Given the description of an element on the screen output the (x, y) to click on. 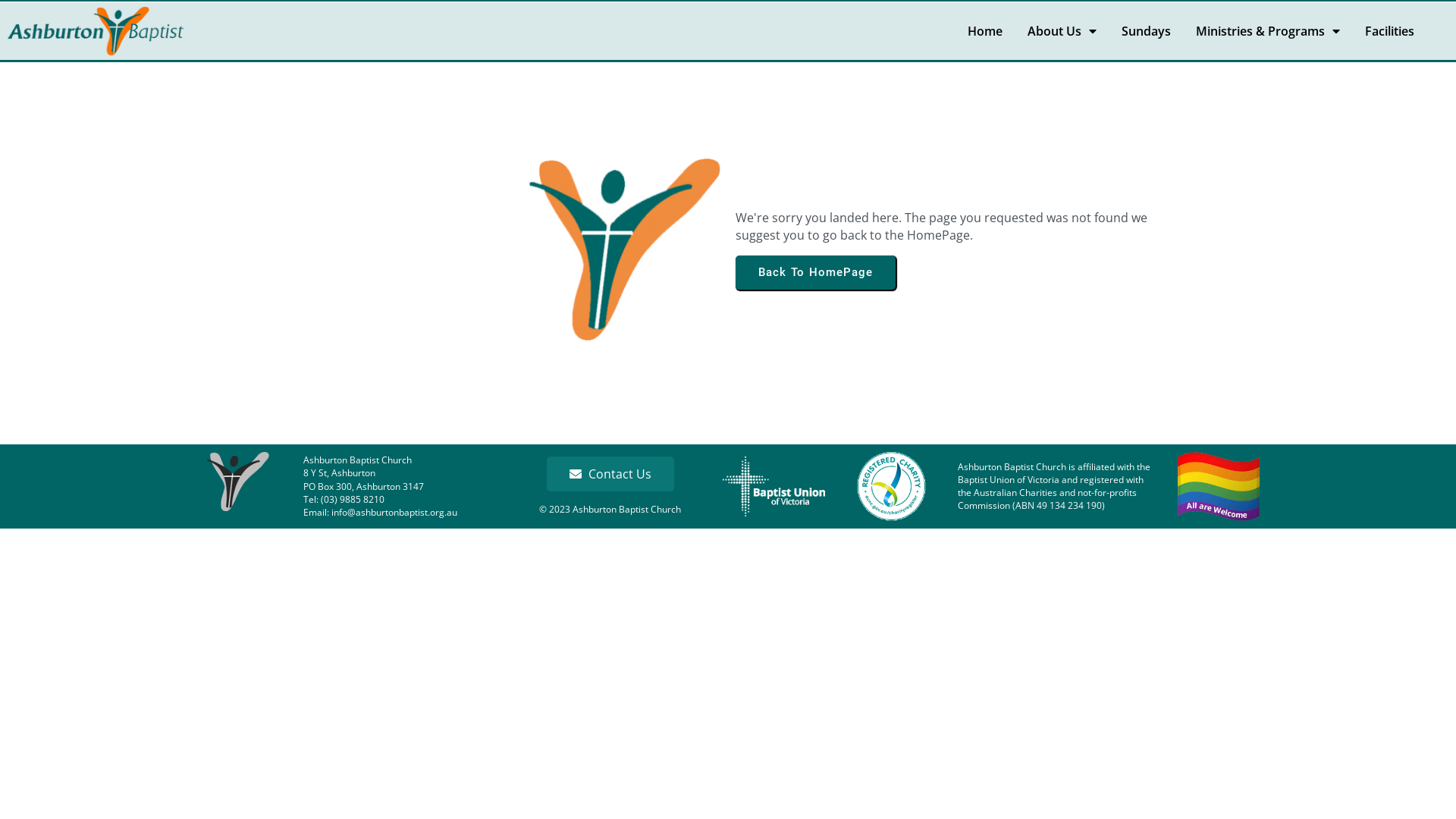
Facilities Element type: text (1389, 31)
Welcome Flag Element type: hover (1218, 485)
Contact Us Element type: text (610, 473)
Back To HomePage Element type: text (815, 272)
Ashburton Baptist Element type: hover (236, 481)
Ashburton Baptist logo Element type: hover (95, 31)
ACNC Element type: hover (890, 485)
Ashburton Baptist Element type: hover (623, 249)
Ministries & Programs Element type: text (1267, 31)
About Us Element type: text (1061, 31)
Baptist Union of Victoria Element type: hover (773, 486)
Sundays Element type: text (1146, 31)
Home Element type: text (984, 31)
